Given the description of an element on the screen output the (x, y) to click on. 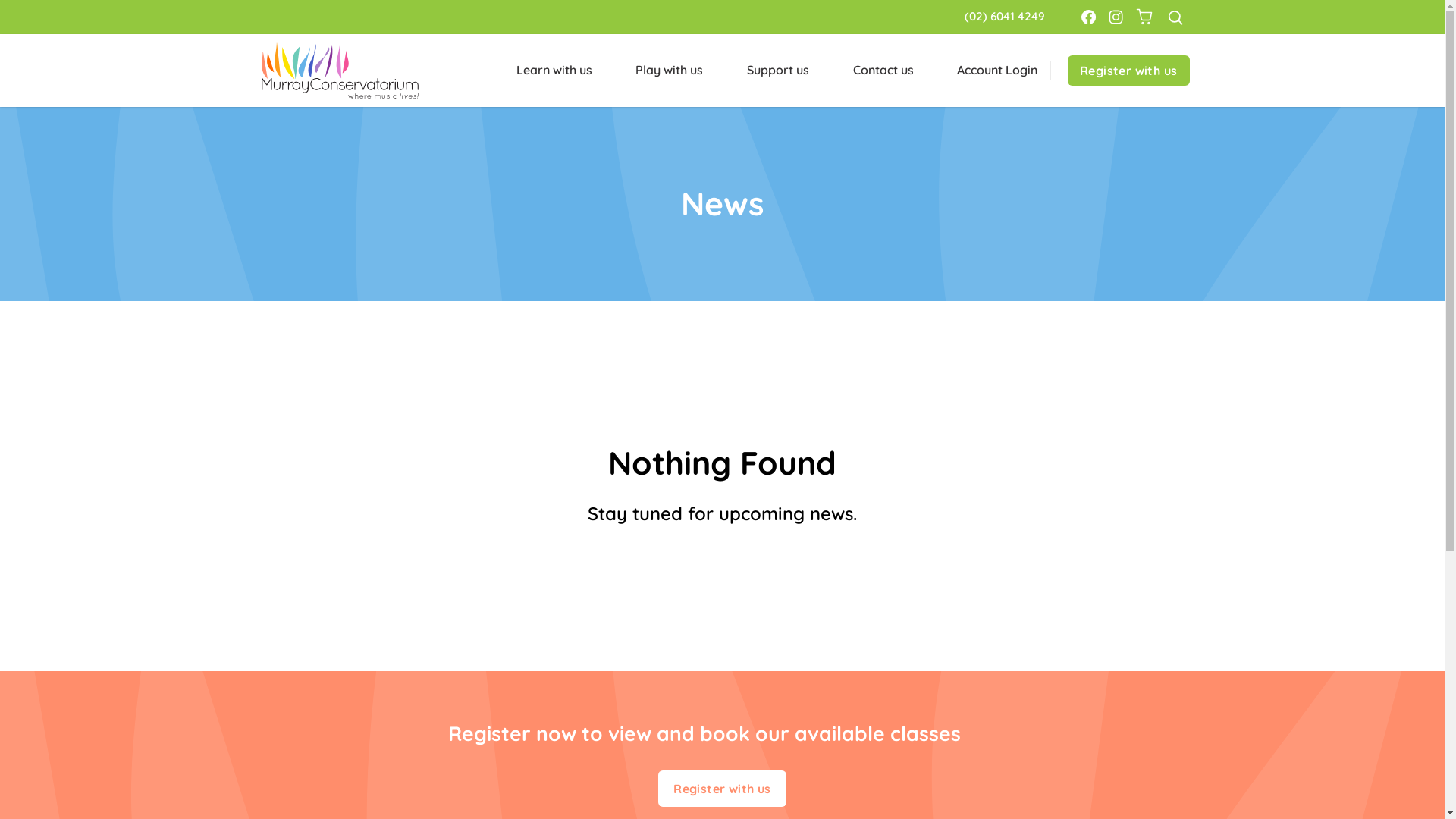
Register with us Element type: text (721, 788)
(02) 6041 4249 Element type: text (1004, 16)
Register with us Element type: text (1128, 70)
Learn with us Element type: text (554, 70)
Play with us Element type: text (668, 70)
Contact us Element type: text (882, 70)
Account Login Element type: text (997, 69)
Support us Element type: text (777, 70)
